Given the description of an element on the screen output the (x, y) to click on. 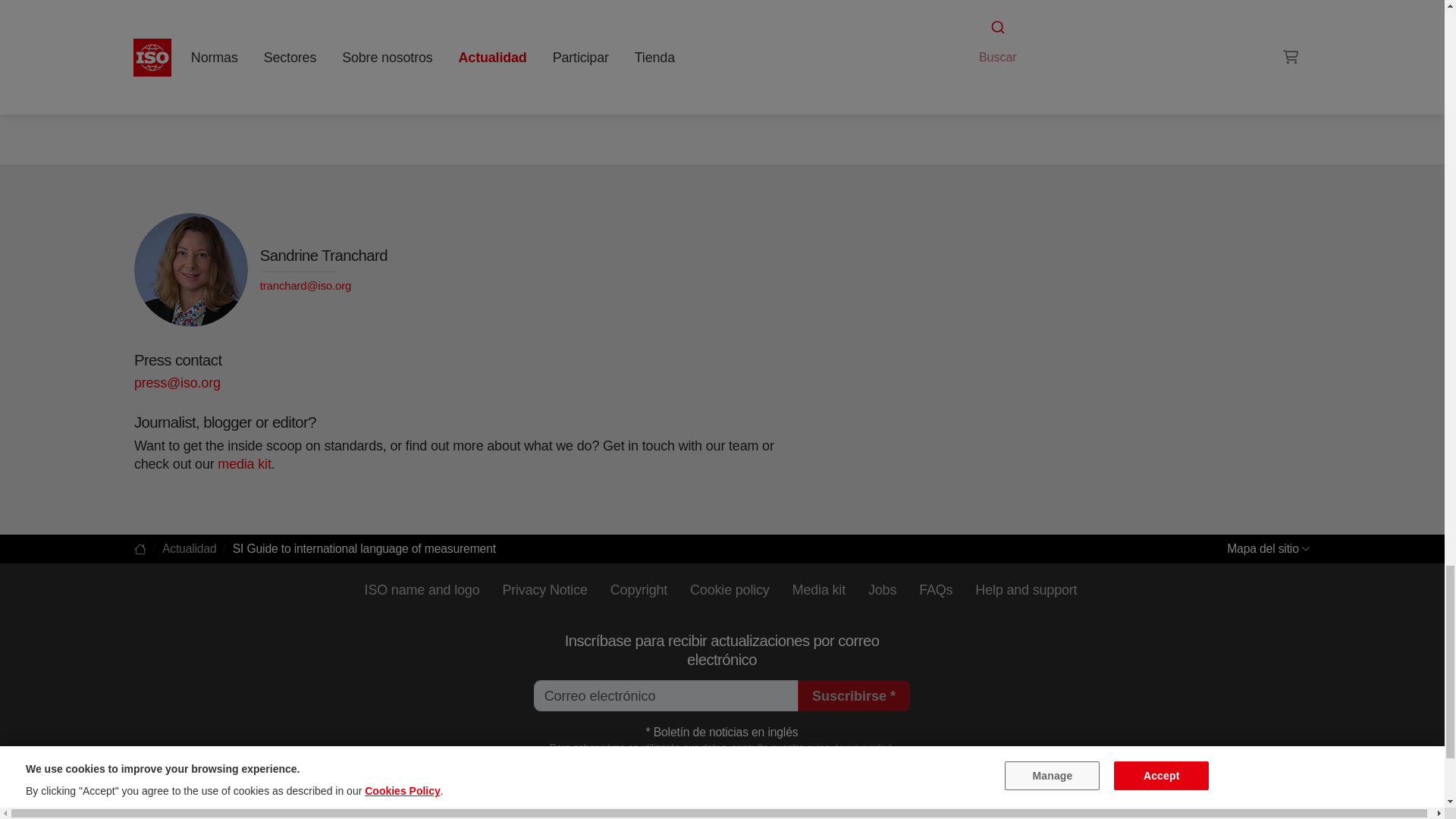
Media kit (243, 463)
